Given the description of an element on the screen output the (x, y) to click on. 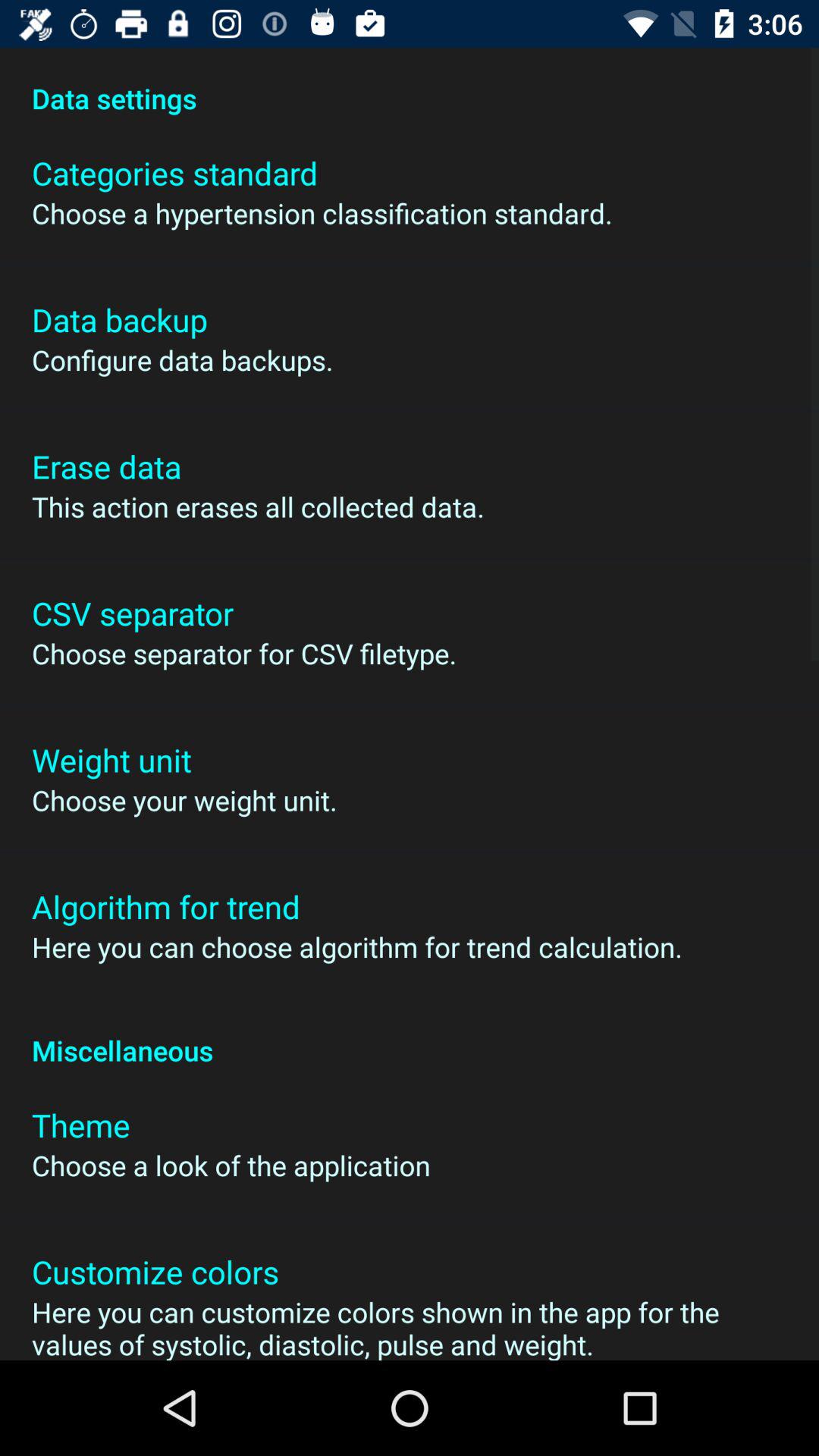
press this action erases icon (257, 506)
